Given the description of an element on the screen output the (x, y) to click on. 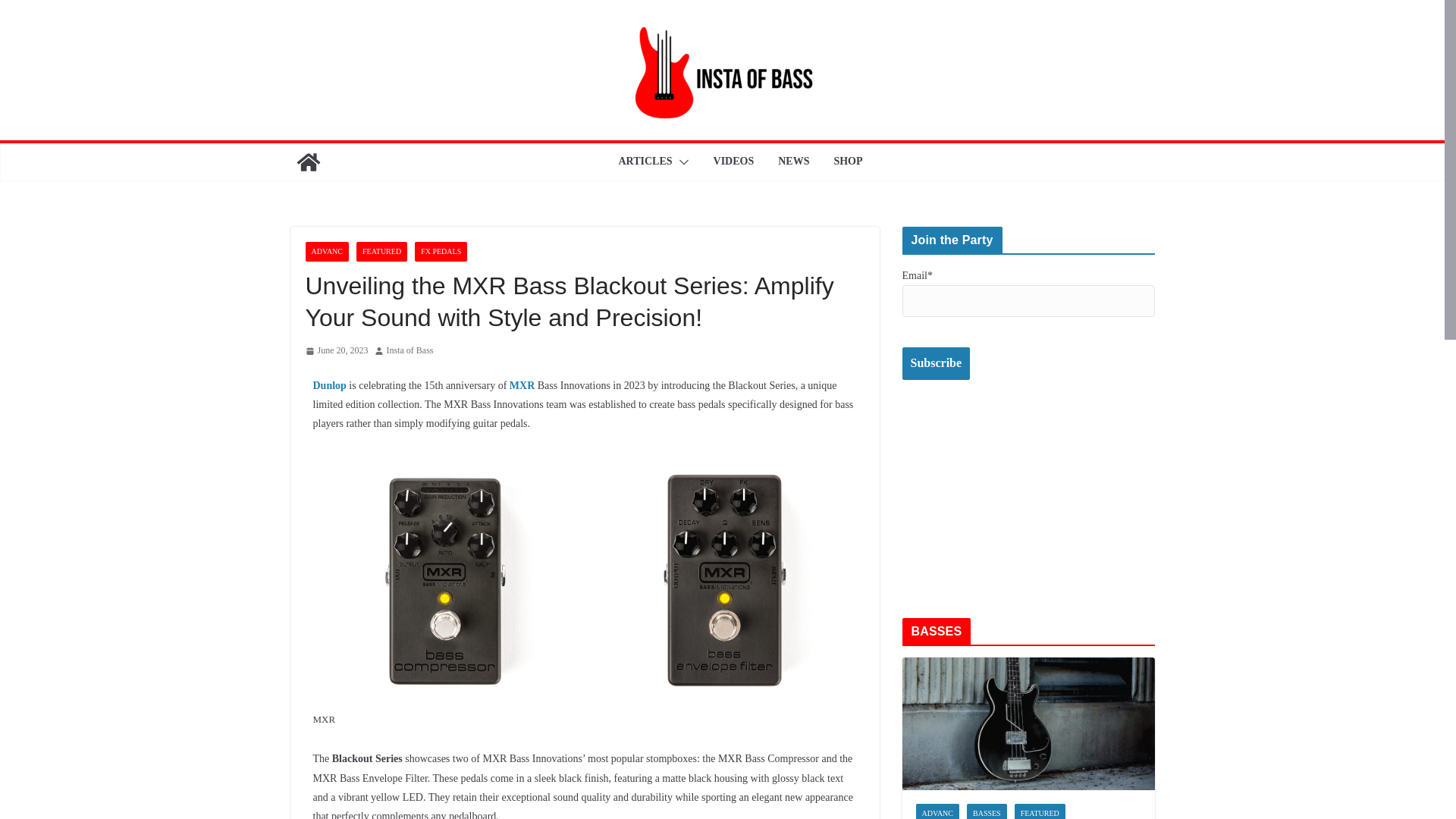
June 20, 2023 (336, 351)
FEATURED (381, 251)
ADVANC (326, 251)
Insta of Bass (410, 351)
MXR (521, 385)
NEWS (793, 161)
Insta of Bass (410, 351)
Subscribe (936, 363)
SHOP (846, 161)
VIDEOS (733, 161)
